Given the description of an element on the screen output the (x, y) to click on. 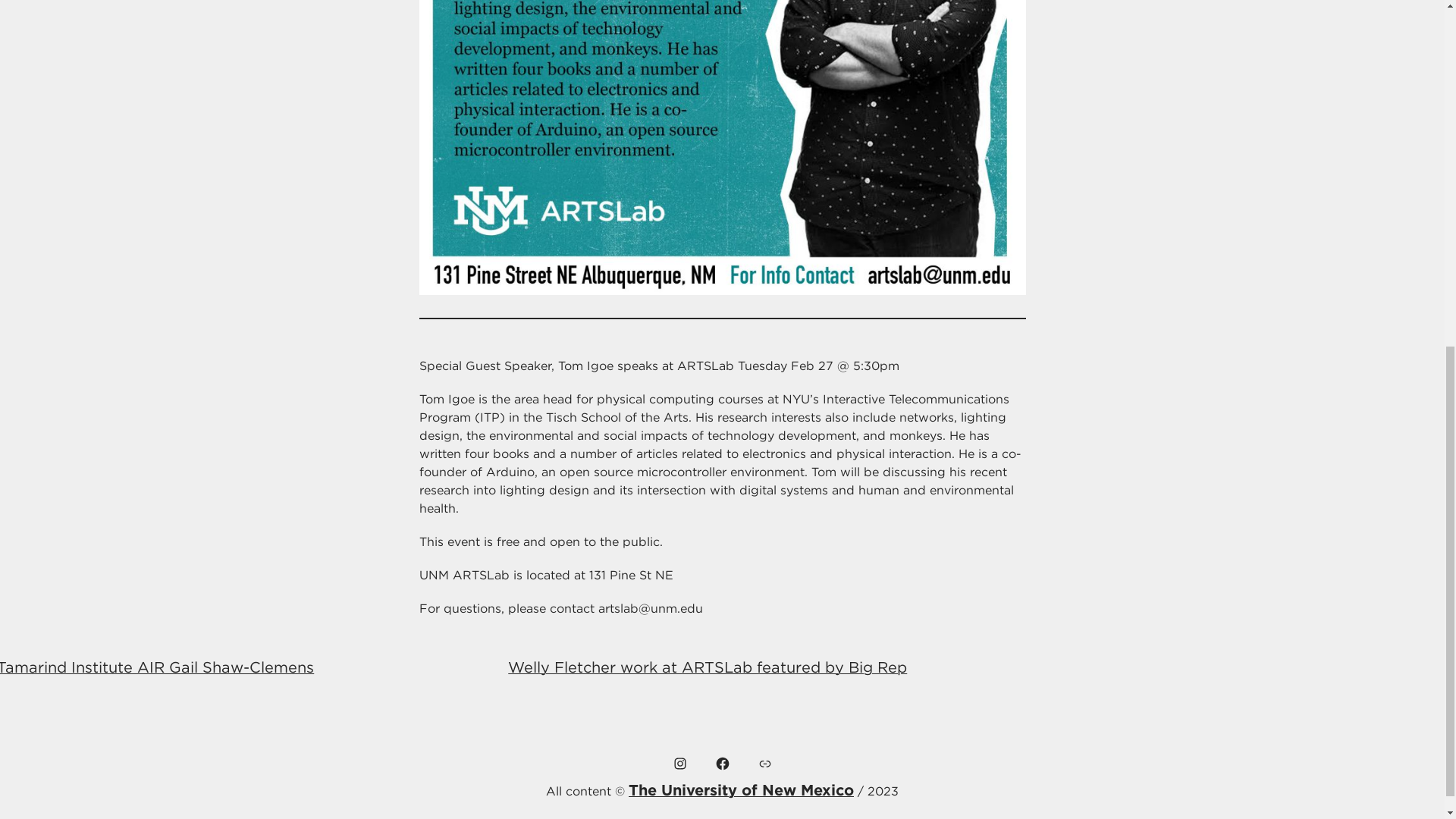
Welly Fletcher work at ARTSLab featured by Big Rep (707, 667)
Instagram (679, 763)
Facebook (721, 763)
The University of New Mexico (740, 790)
Tamarind Institute AIR Gail Shaw-Clemens (157, 667)
Link (764, 763)
